Given the description of an element on the screen output the (x, y) to click on. 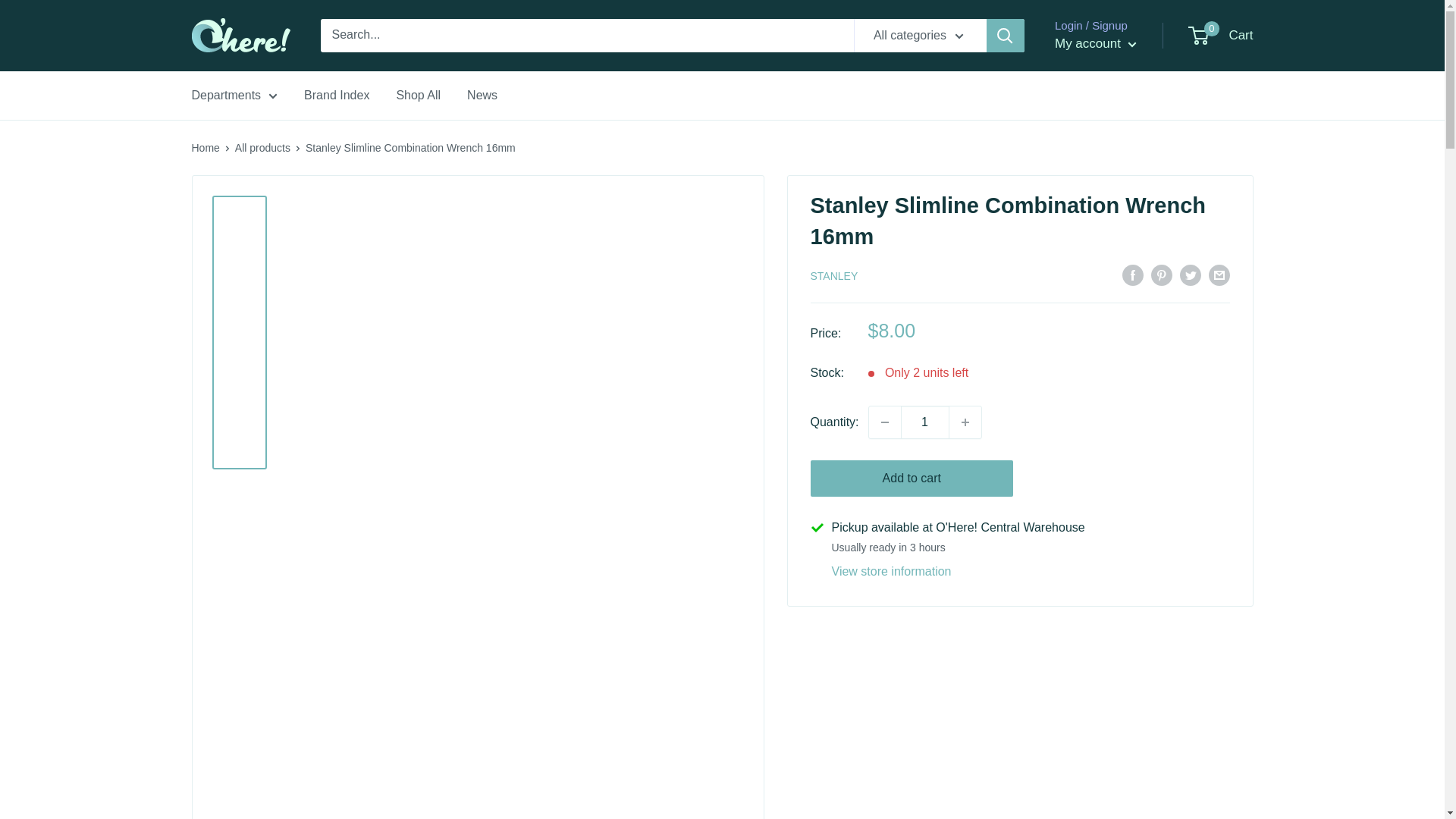
Decrease quantity by 1 (885, 422)
1 (925, 422)
Increase quantity by 1 (965, 422)
